Given the description of an element on the screen output the (x, y) to click on. 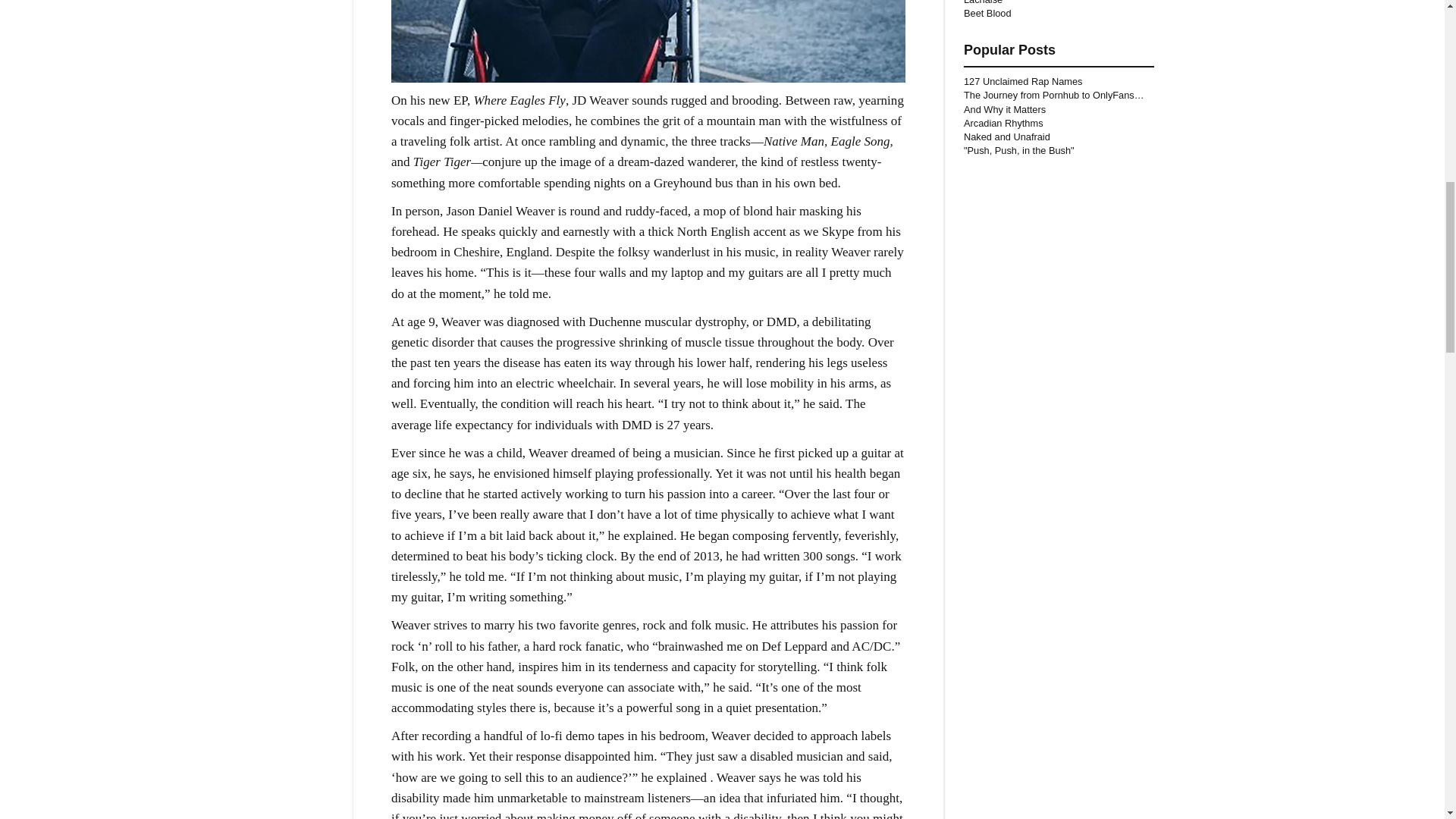
127 Unclaimed Rap Names (1022, 81)
Naked and Unafraid (1006, 136)
Arcadian Rhythms (1003, 122)
Beet Blood (987, 12)
"Push, Push, in the Bush" (1018, 150)
